Given the description of an element on the screen output the (x, y) to click on. 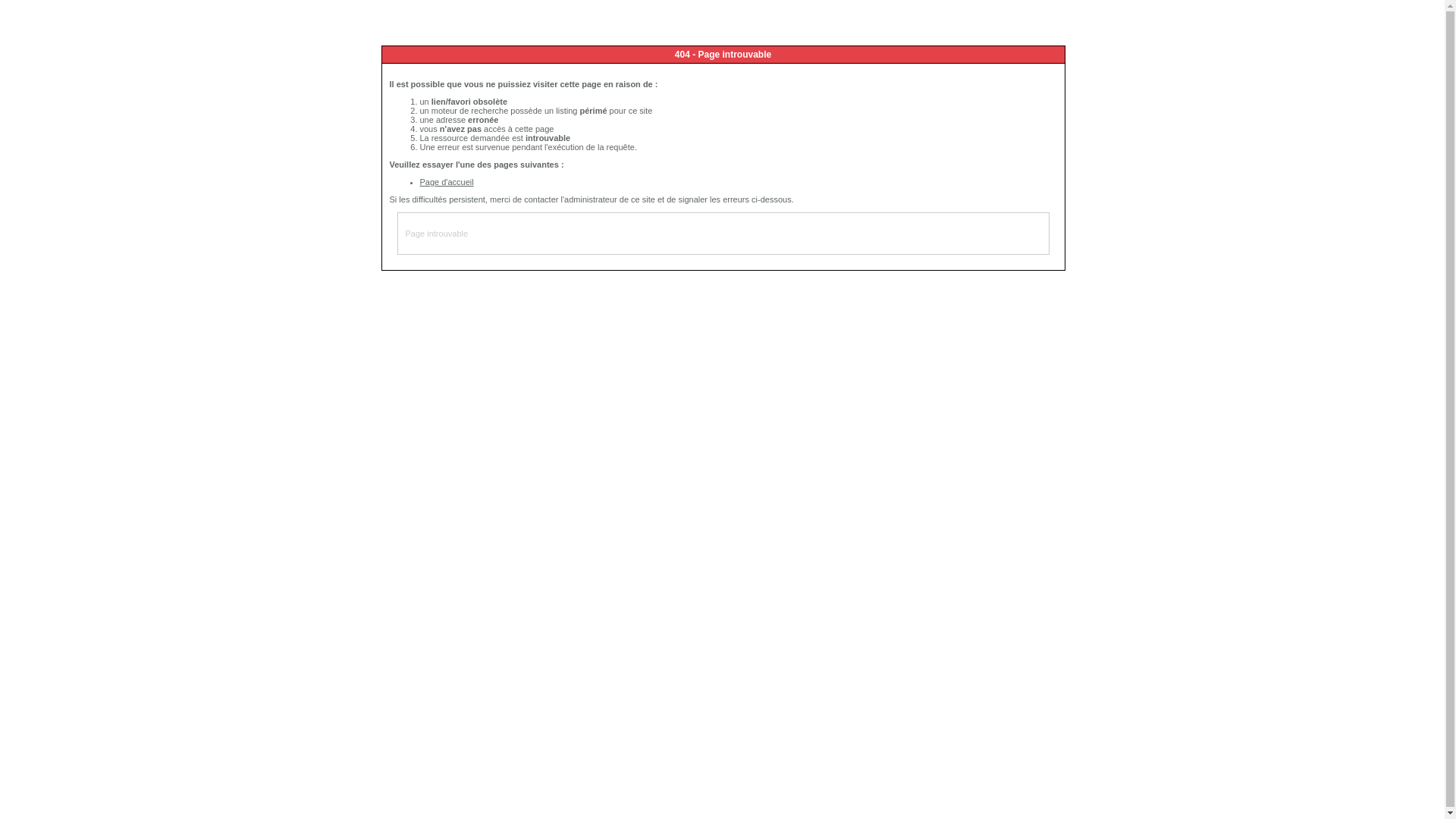
Page d'accueil Element type: text (446, 181)
